Given the description of an element on the screen output the (x, y) to click on. 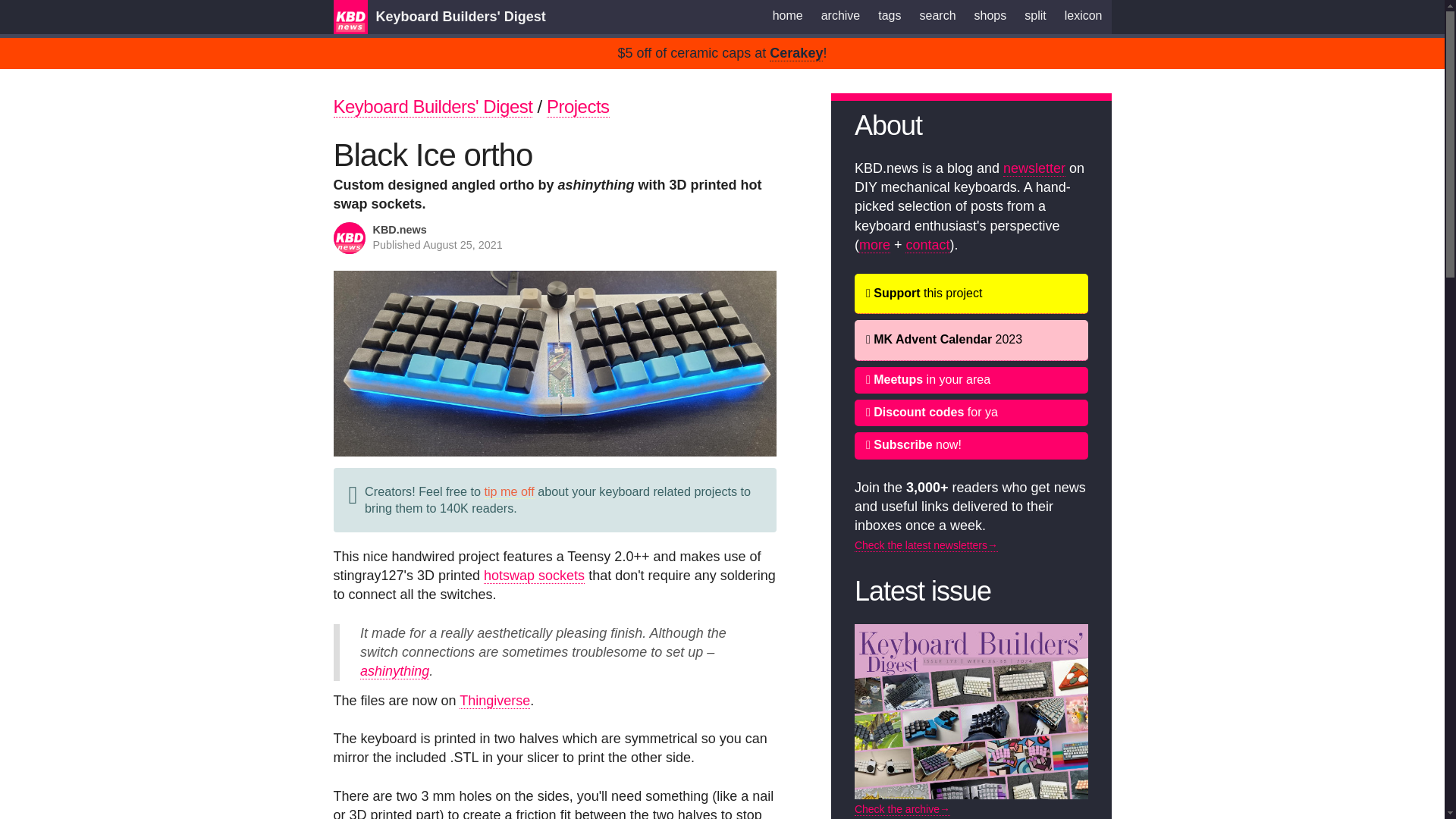
split (1034, 15)
tags (889, 15)
Keyboard Builders' Digest (432, 106)
lexicon (1083, 15)
ashinything (394, 671)
Keyboard Builders' Digest (460, 17)
shops (990, 15)
Thingiverse (494, 700)
tip me off (509, 491)
search (936, 15)
